Given the description of an element on the screen output the (x, y) to click on. 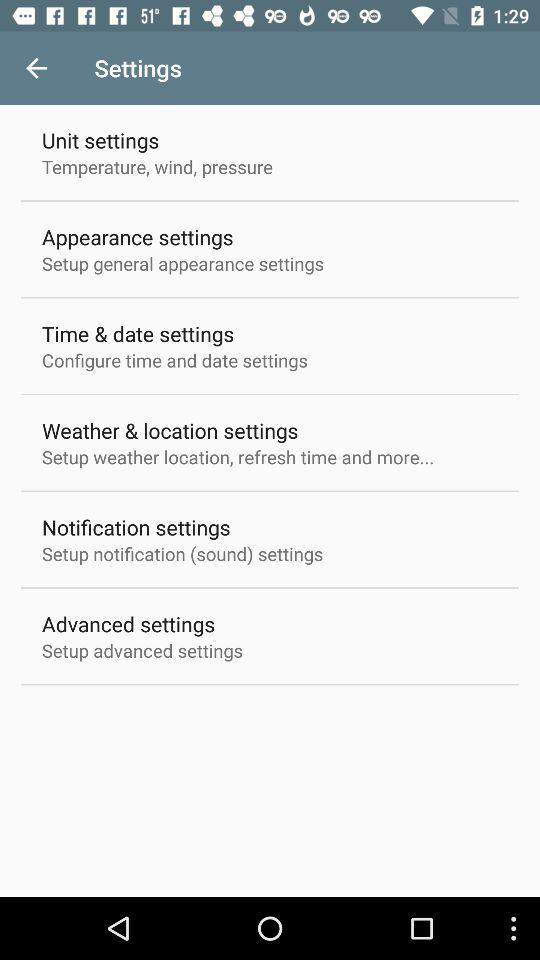
launch icon below appearance settings (183, 263)
